Given the description of an element on the screen output the (x, y) to click on. 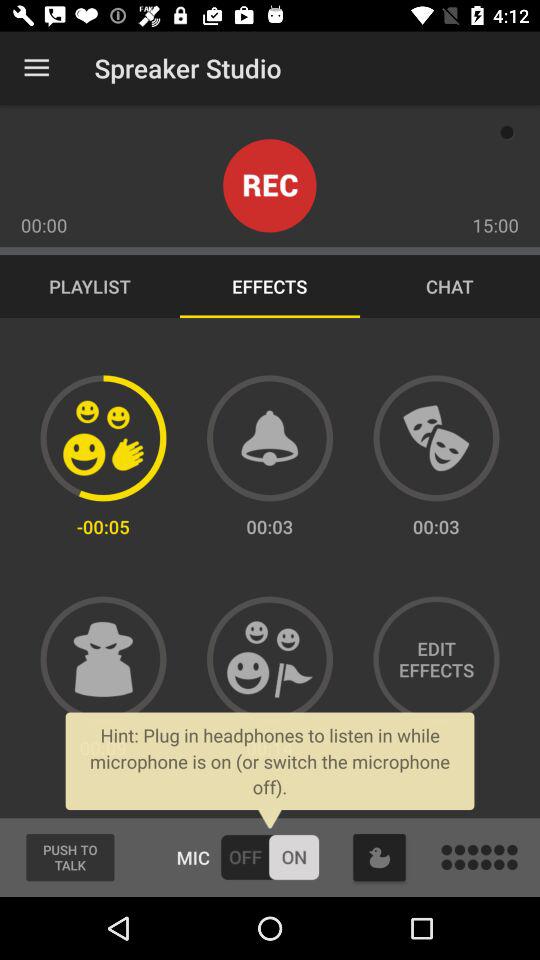
go got sound effects (270, 438)
